Given the description of an element on the screen output the (x, y) to click on. 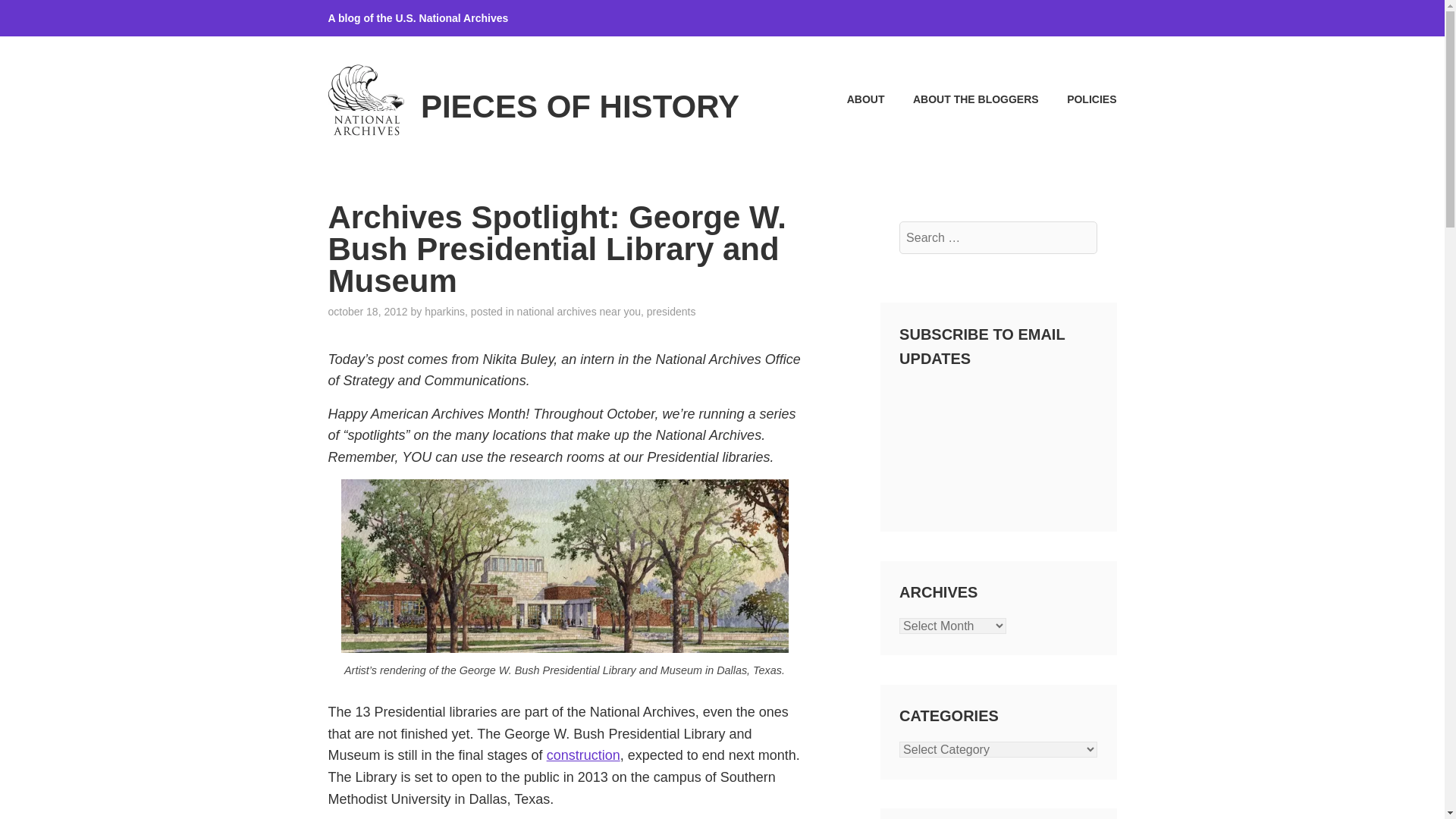
hparkins (444, 311)
construction (583, 754)
presidents (670, 311)
PIECES OF HISTORY (579, 106)
ABOUT (852, 99)
october 18, 2012 (367, 311)
Search (48, 17)
POLICIES (1079, 99)
Form 0 (998, 442)
ABOUT THE BLOGGERS (962, 99)
national archives near you (578, 311)
georgewbushlibrary.smu (564, 565)
